Given the description of an element on the screen output the (x, y) to click on. 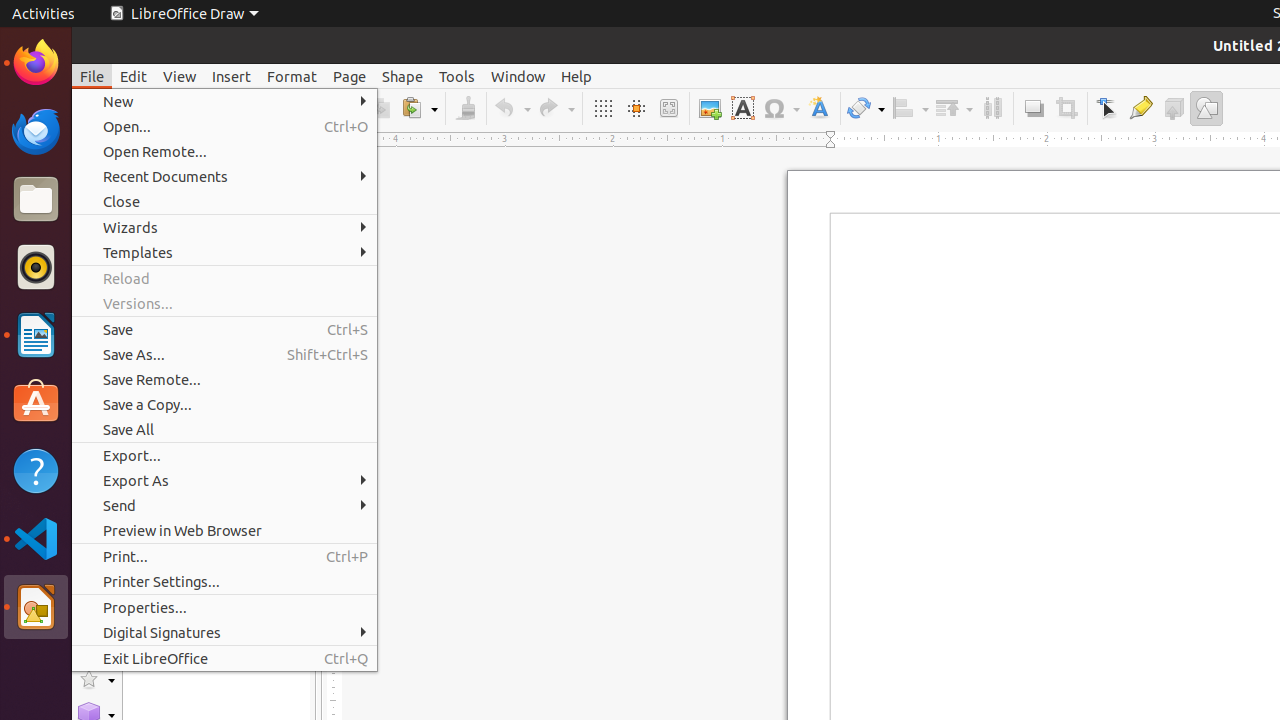
Window Element type: menu (518, 76)
Recent Documents Element type: menu (224, 176)
Save a Copy... Element type: menu-item (224, 404)
Reload Element type: menu-item (224, 278)
Tools Element type: menu (457, 76)
